Given the description of an element on the screen output the (x, y) to click on. 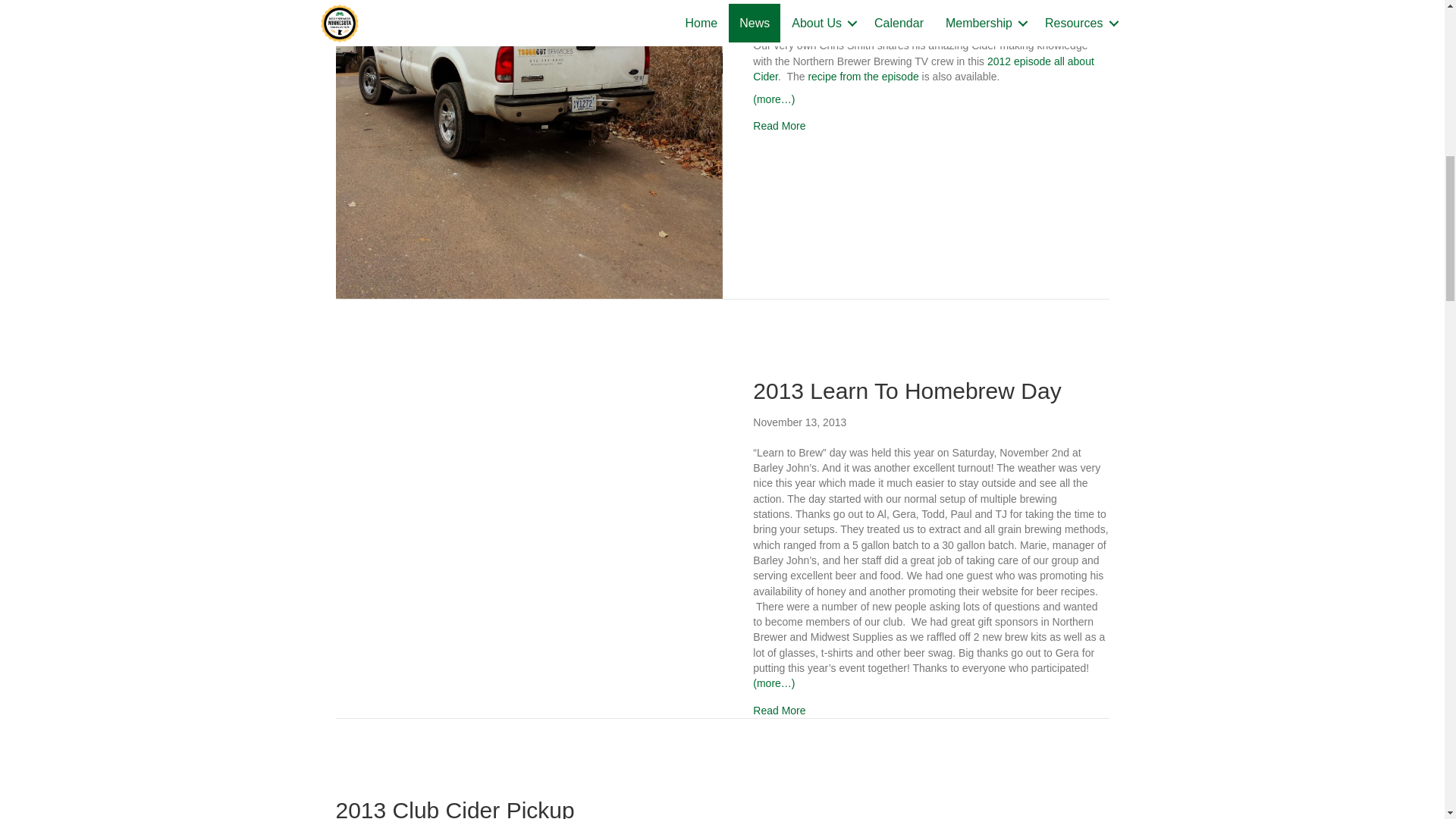
2013 Club Cider Pickup (453, 808)
2012 episode all about Cider (923, 68)
Read More (778, 125)
2013 Learn To Homebrew Day (778, 710)
2013 Cider Buy Wrap-up (528, 39)
2013 Club Cider Pickup (453, 808)
2013 Learn To Homebrew Day (906, 390)
recipe from the episode (863, 76)
Read More (778, 710)
2013 Cider Buy Wrap-up (778, 125)
2013 Learn To Homebrew Day (528, 503)
2013 Learn To Homebrew Day (906, 390)
